Given the description of an element on the screen output the (x, y) to click on. 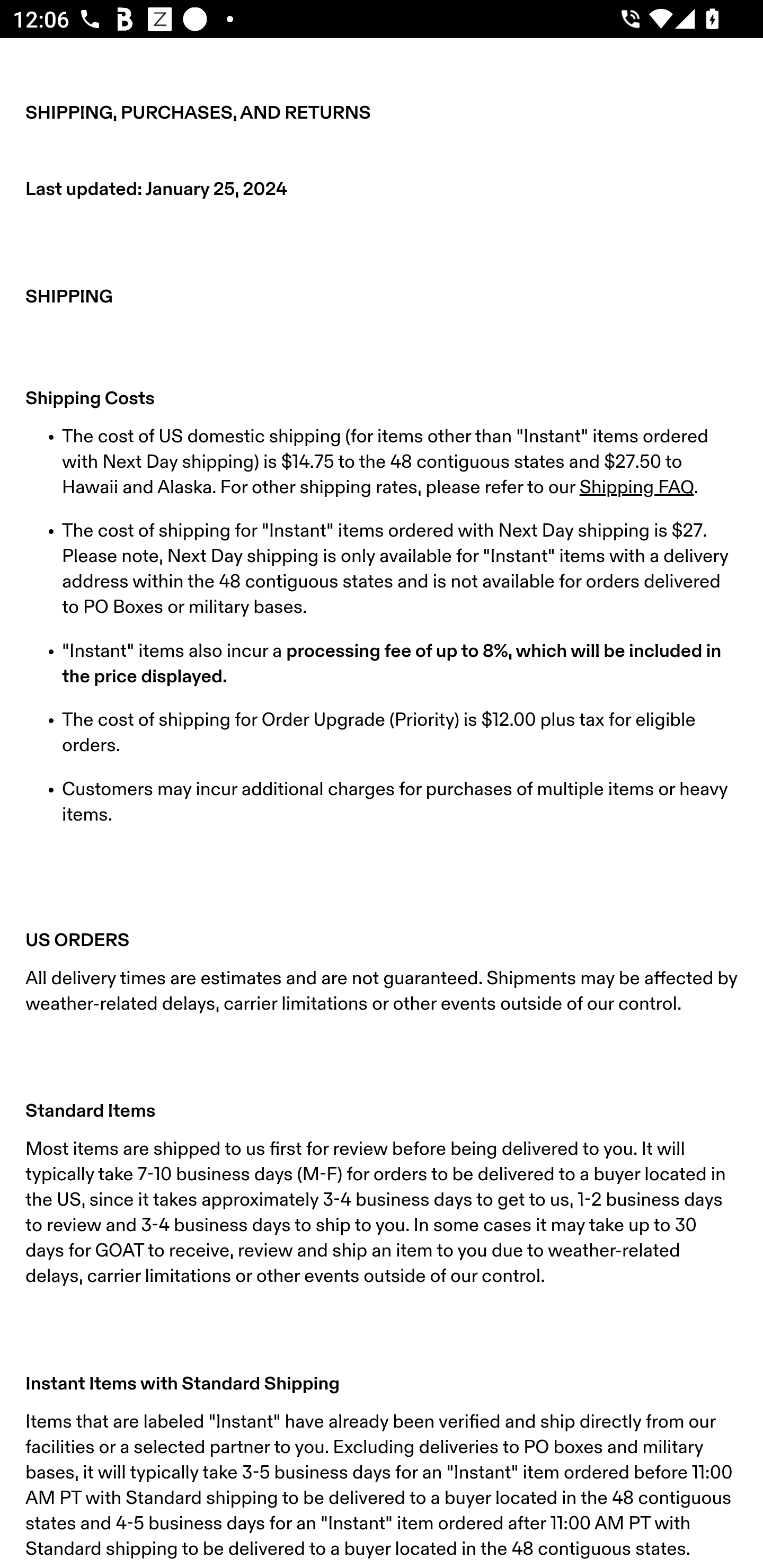
Shipping FAQ (636, 487)
